Given the description of an element on the screen output the (x, y) to click on. 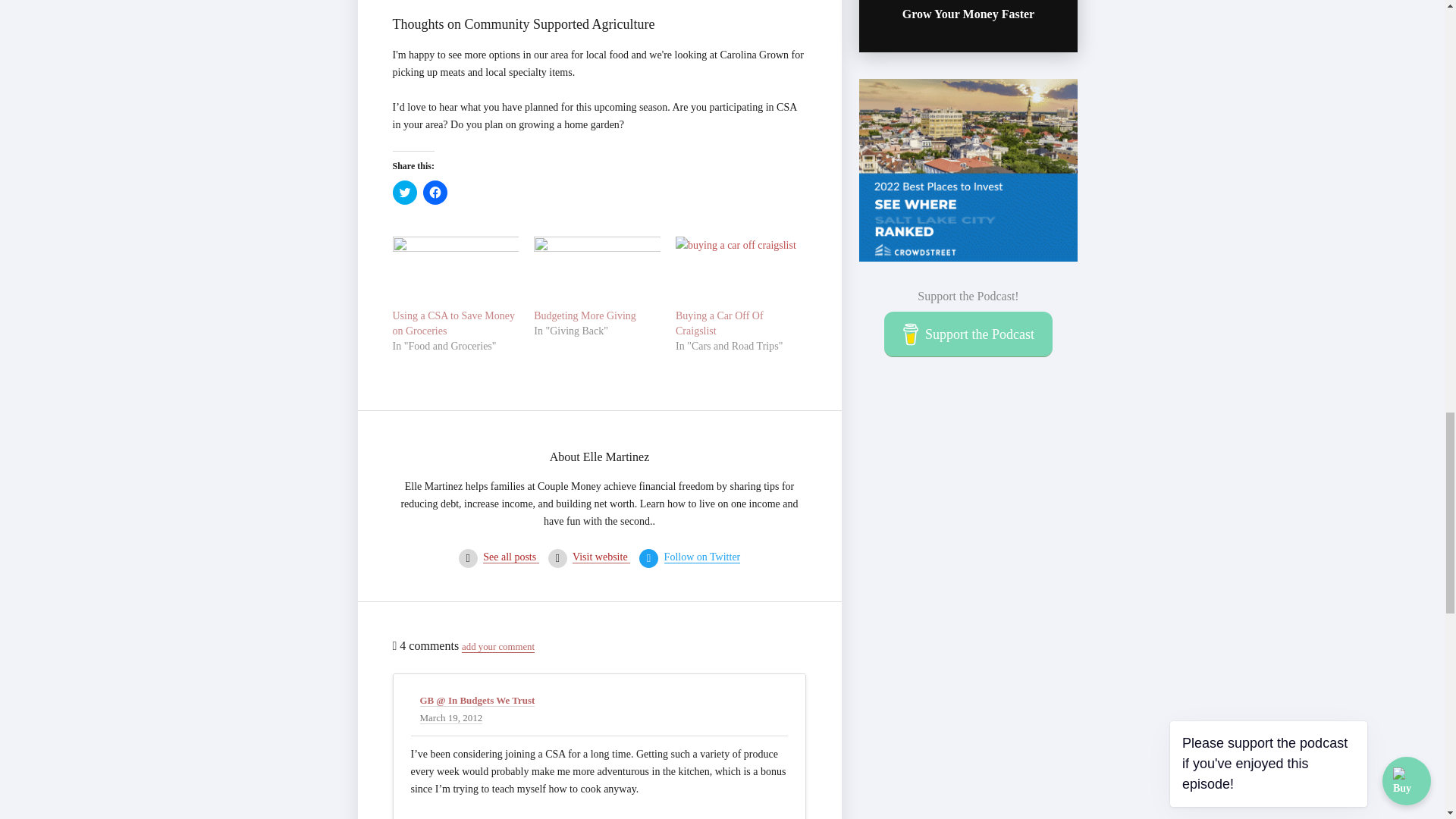
See all posts (510, 557)
Visit website (601, 557)
March 19, 2012 (451, 717)
Using a CSA to Save Money on Groceries (454, 323)
Using a CSA to Save Money on Groceries (454, 323)
Buying a Car Off Of Craigslist (738, 272)
Budgeting More Giving (585, 315)
Budgeting More Giving (585, 315)
Follow on Twitter (702, 557)
Click to share on Twitter (404, 192)
